Given the description of an element on the screen output the (x, y) to click on. 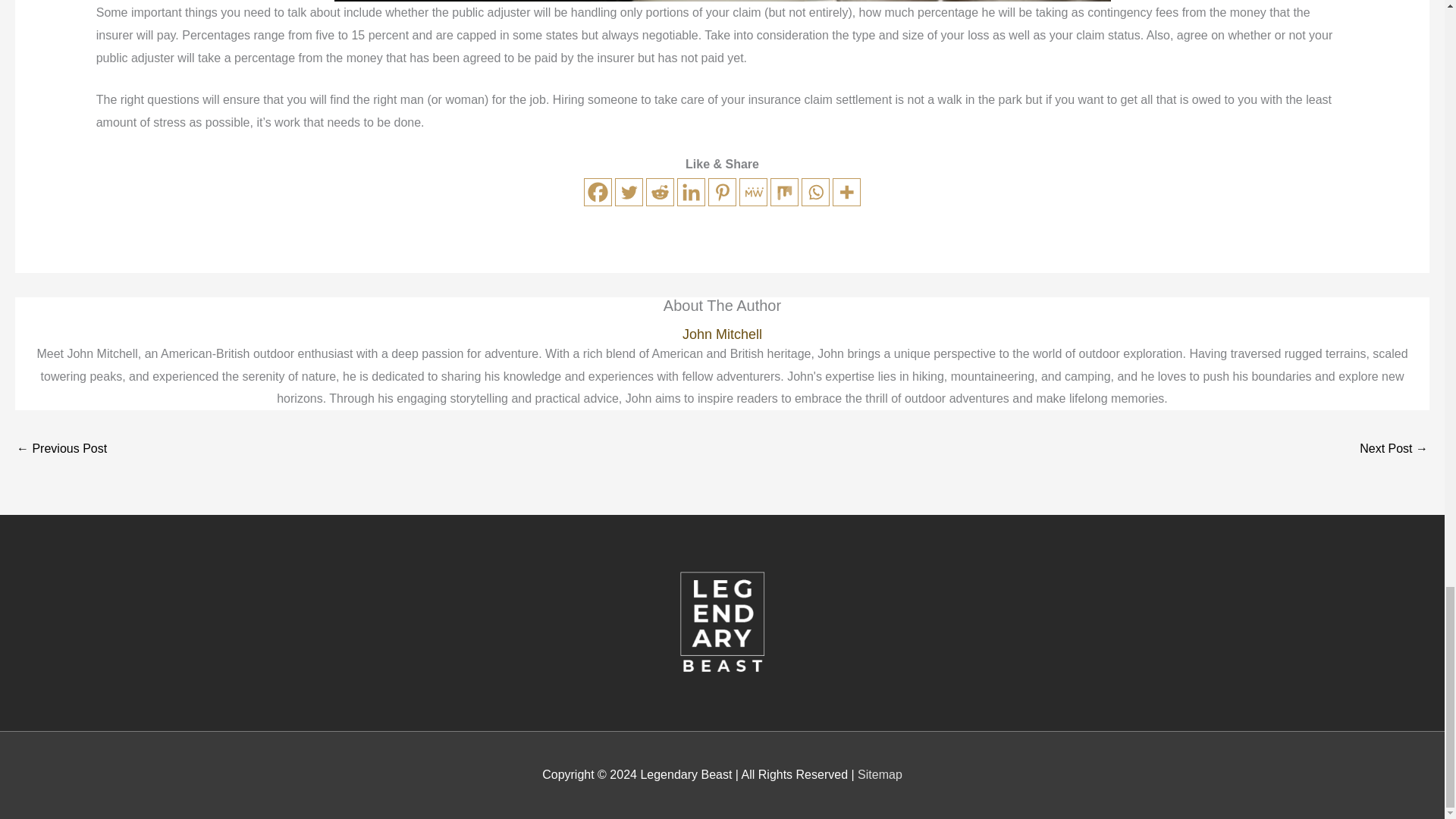
Pinterest (721, 192)
Sitemap (879, 774)
Whatsapp (815, 192)
Linkedin (690, 192)
Facebook (597, 192)
Mix (783, 192)
John Mitchell (721, 334)
For a Better Basement: Renovate Your Secret Space (61, 449)
Twitter (628, 192)
Reddit (660, 192)
MeWe (753, 192)
More (846, 192)
